Given the description of an element on the screen output the (x, y) to click on. 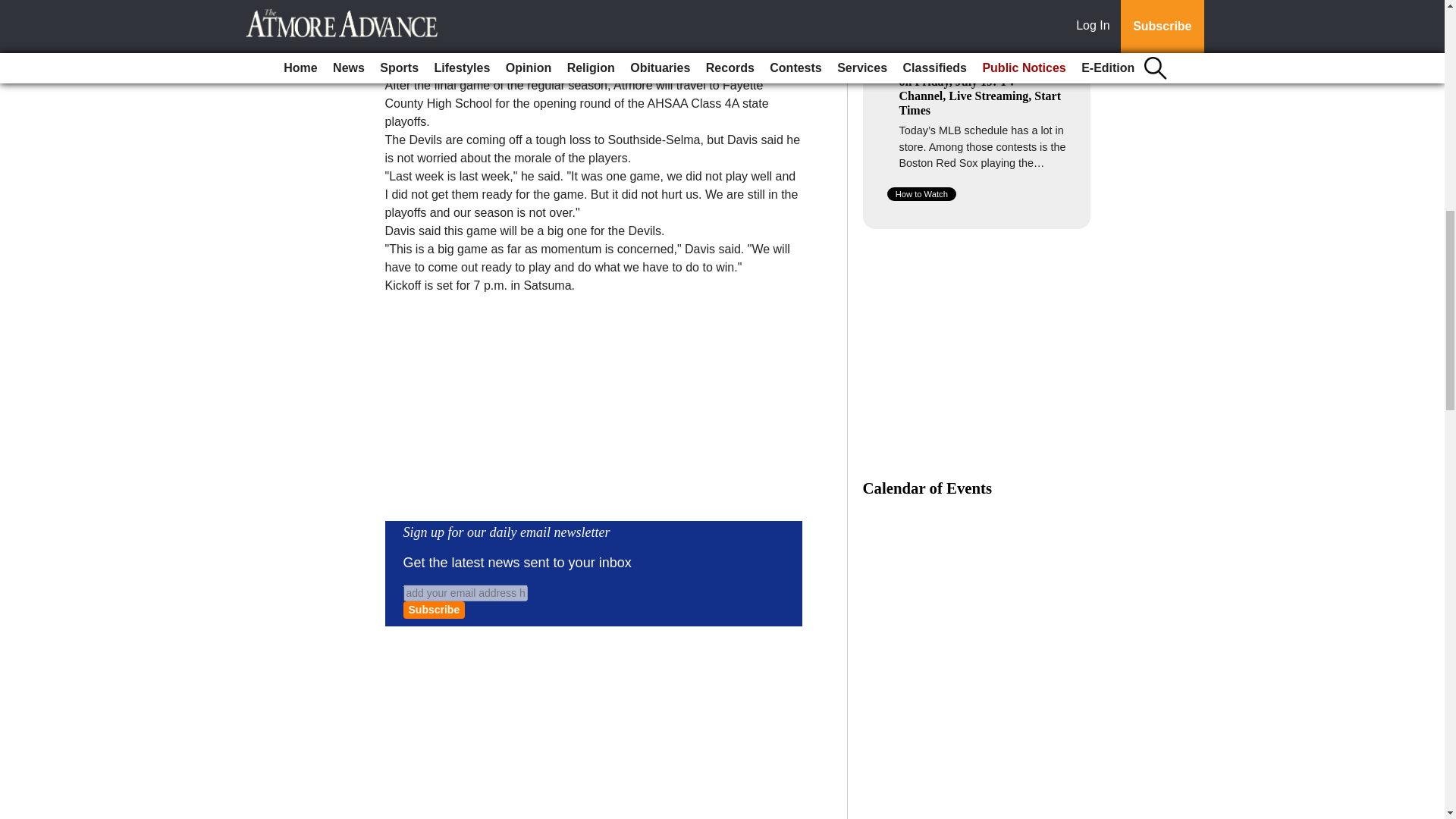
Subscribe (434, 610)
Subscribe (434, 610)
